Given the description of an element on the screen output the (x, y) to click on. 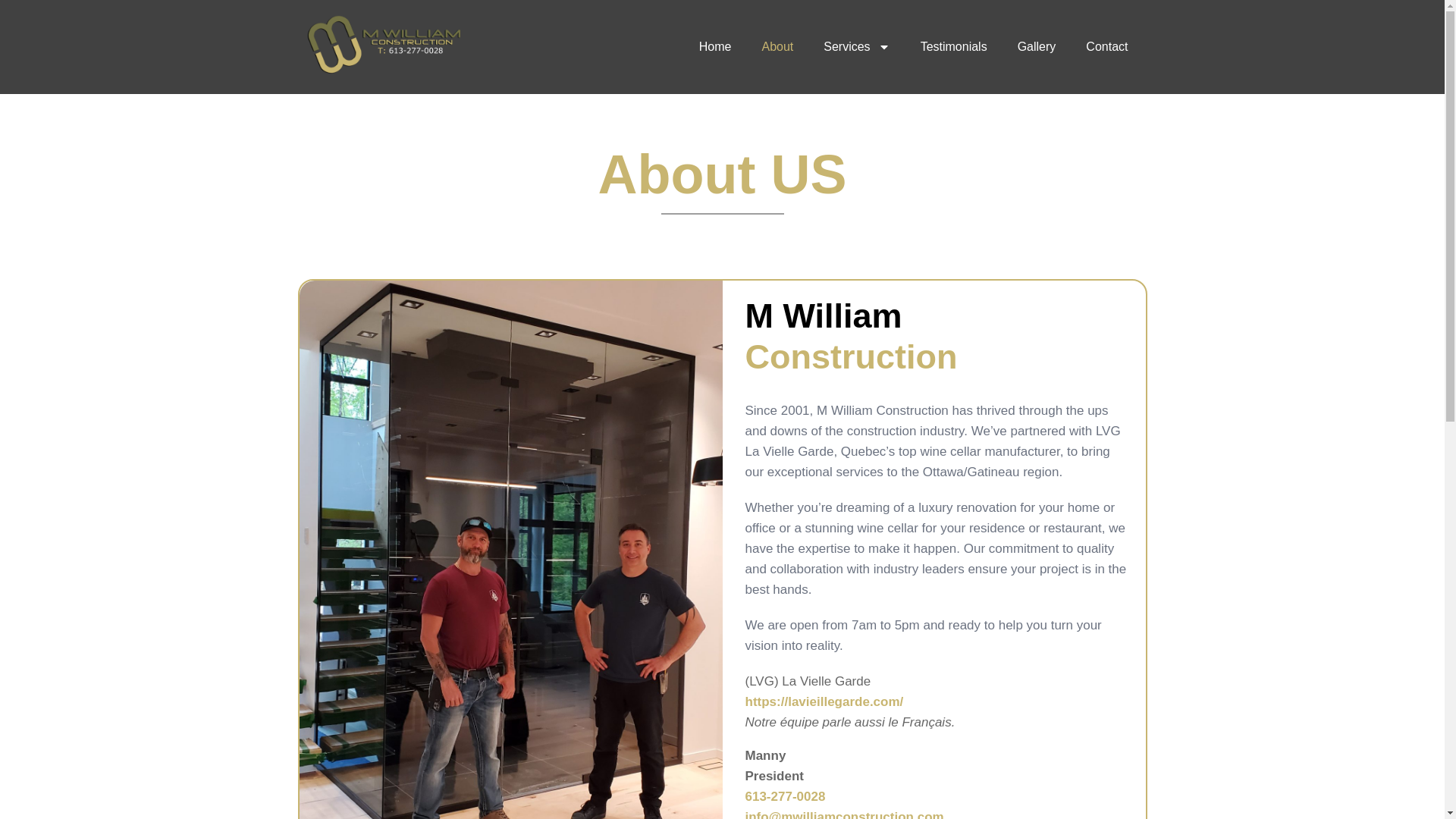
About (776, 47)
Home (715, 47)
Testimonials (954, 47)
Gallery (1037, 47)
Contact (1106, 47)
Services (856, 47)
